Given the description of an element on the screen output the (x, y) to click on. 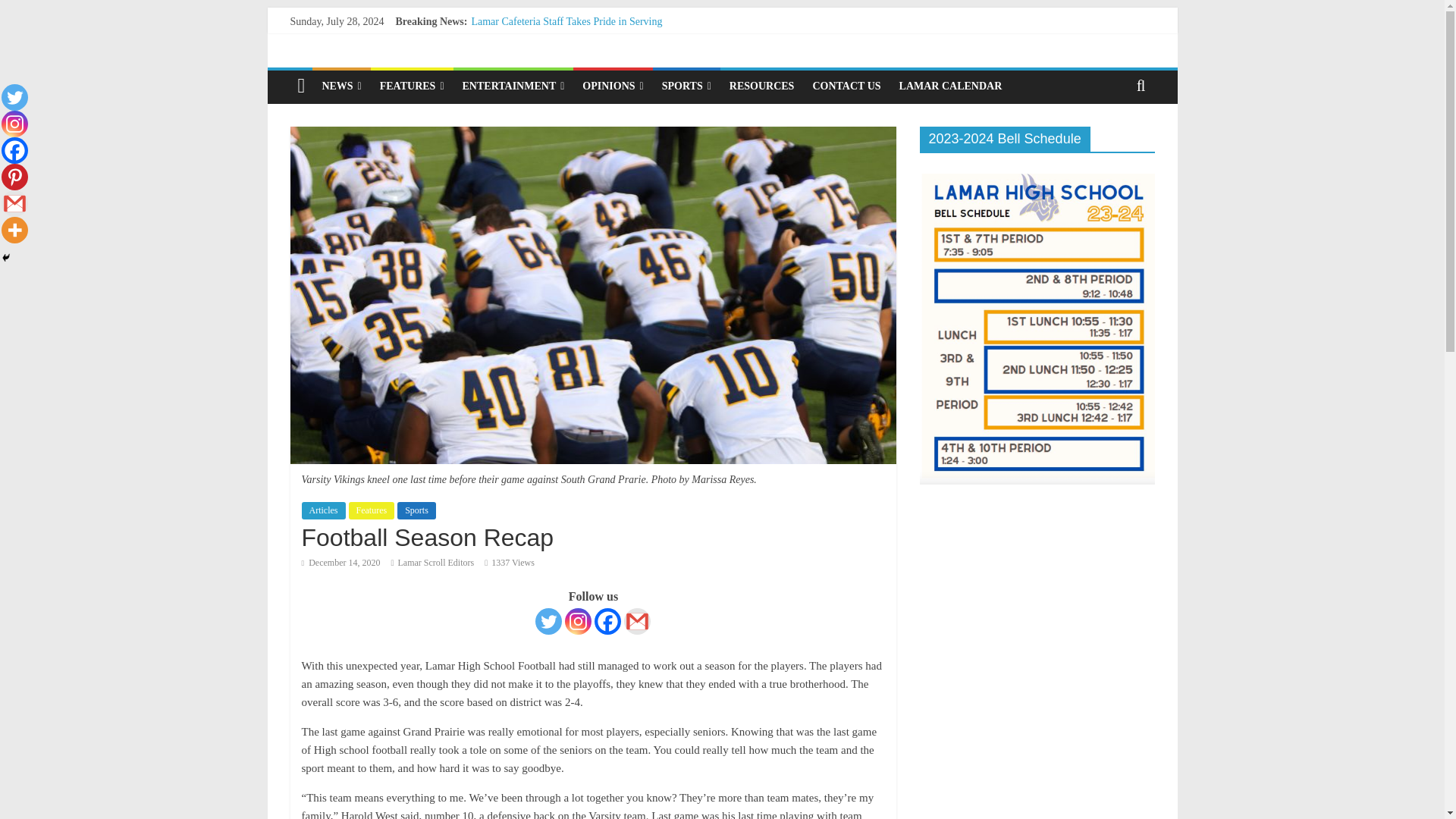
Lamar Scroll Editors (435, 562)
Articles (323, 510)
ENTERTAINMENT (512, 86)
LAMAR CALENDAR (950, 86)
1:25 pm (340, 562)
FEATURES (411, 86)
Lamar Cafeteria Staff Takes Pride in Serving (566, 21)
CONTACT US (846, 86)
Sports (416, 510)
Lamar Scroll Editors (435, 562)
Lamar Scroll (301, 86)
Twitter (548, 621)
Instagram (577, 621)
RESOURCES (761, 86)
OPINIONS (612, 86)
